Given the description of an element on the screen output the (x, y) to click on. 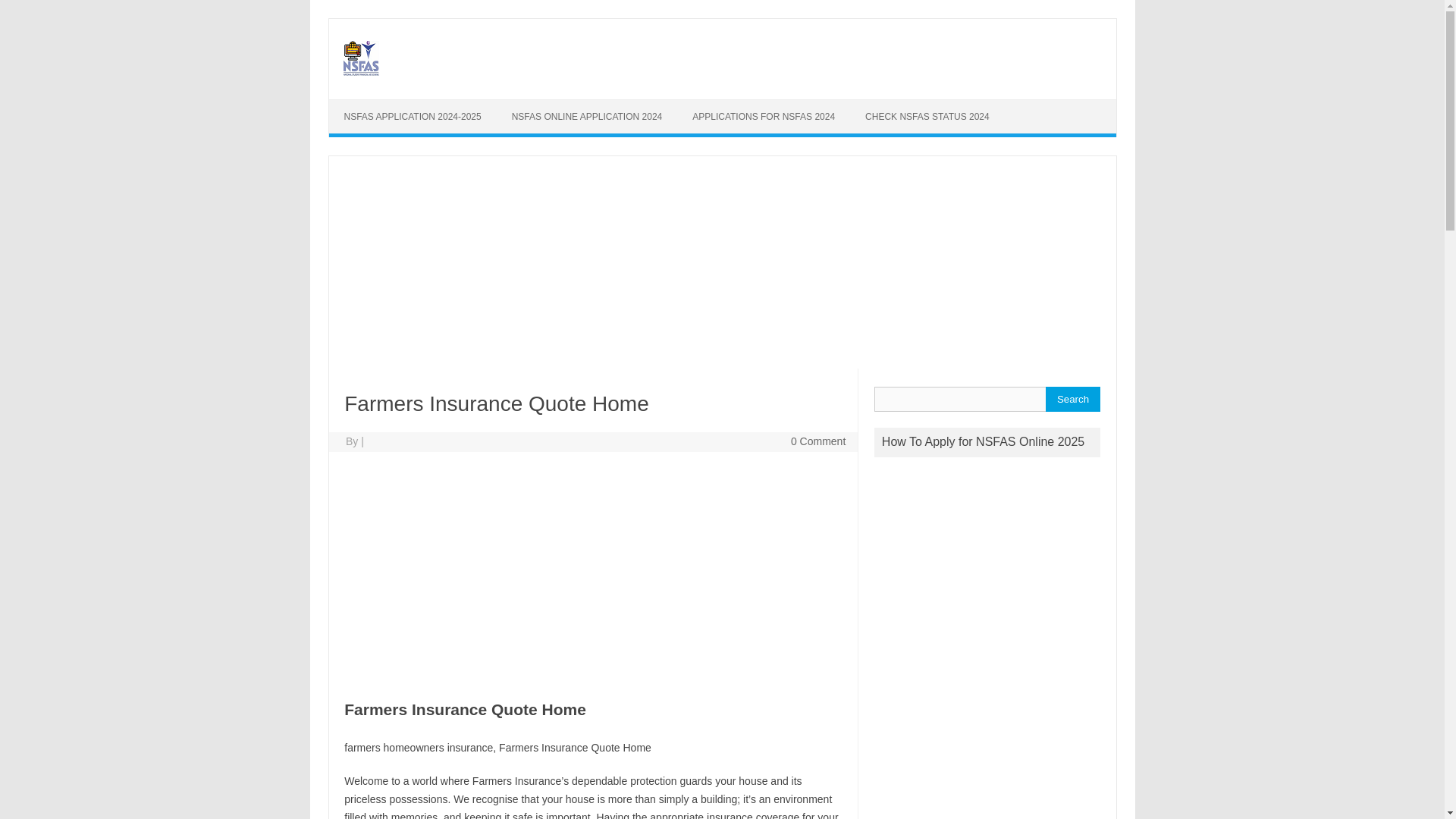
www.nsfas.org.za (359, 73)
0 Comment (817, 440)
Advertisement (592, 572)
NSFAS ONLINE APPLICATION 2024 (587, 116)
CHECK NSFAS STATUS 2024 (927, 116)
Search (1072, 398)
APPLICATIONS FOR NSFAS 2024 (763, 116)
